Given the description of an element on the screen output the (x, y) to click on. 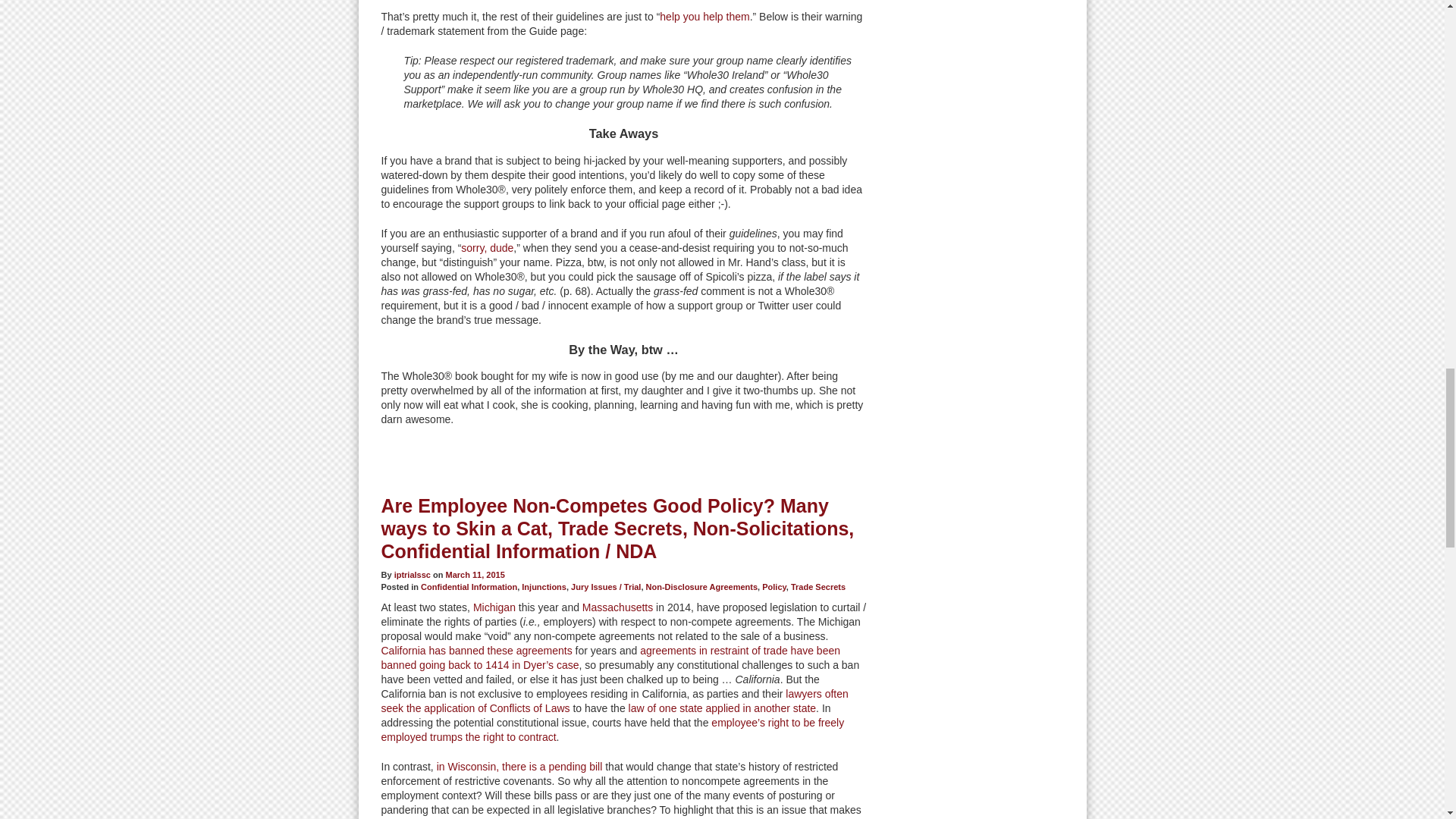
MA Senate Passes Noncompete Reform Bill (617, 607)
Policy (773, 586)
Are non-compete agreements enforceable in California? (613, 700)
Injunctions (543, 586)
help you help them (704, 16)
Non-Compete Ban Proposed in Michigan (494, 607)
Non-Disclosure Agreements (702, 586)
Confidential Information (468, 586)
iptrialssc (412, 574)
